Given the description of an element on the screen output the (x, y) to click on. 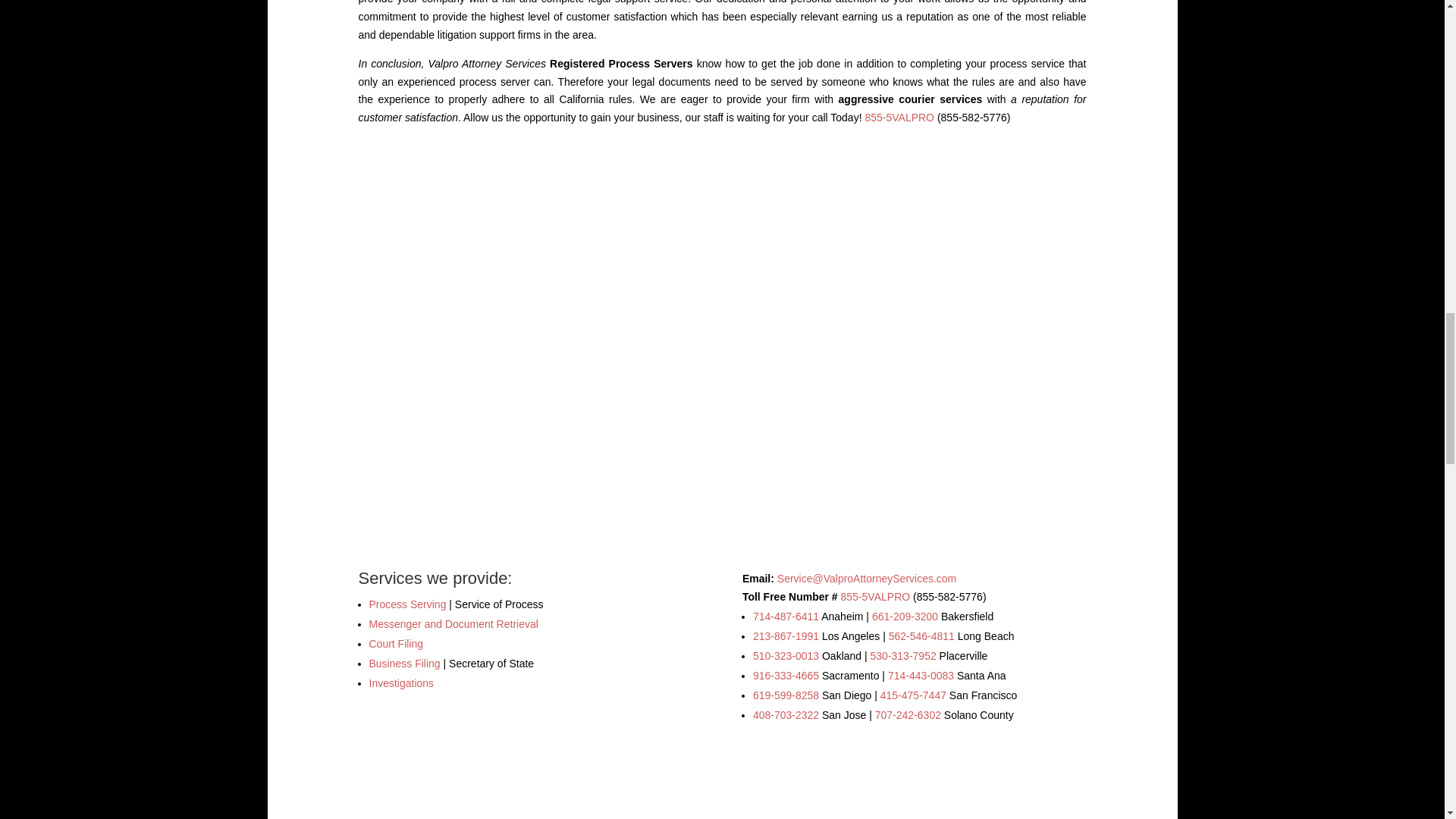
714-443-0083 (920, 675)
530-313-7952 (903, 655)
855-5VALPRO (899, 117)
Business Filing (403, 663)
714-487-6411 (785, 616)
Process Serving (406, 604)
855-5VALPRO (876, 596)
Investigations (400, 683)
562-546-4811 (921, 635)
916-333-4665 (785, 675)
Messenger and Document Retrieval (452, 623)
661-209-3200 (904, 616)
619-599-8258 (785, 695)
Court Filing (395, 644)
213-867-1991 (785, 635)
